Given the description of an element on the screen output the (x, y) to click on. 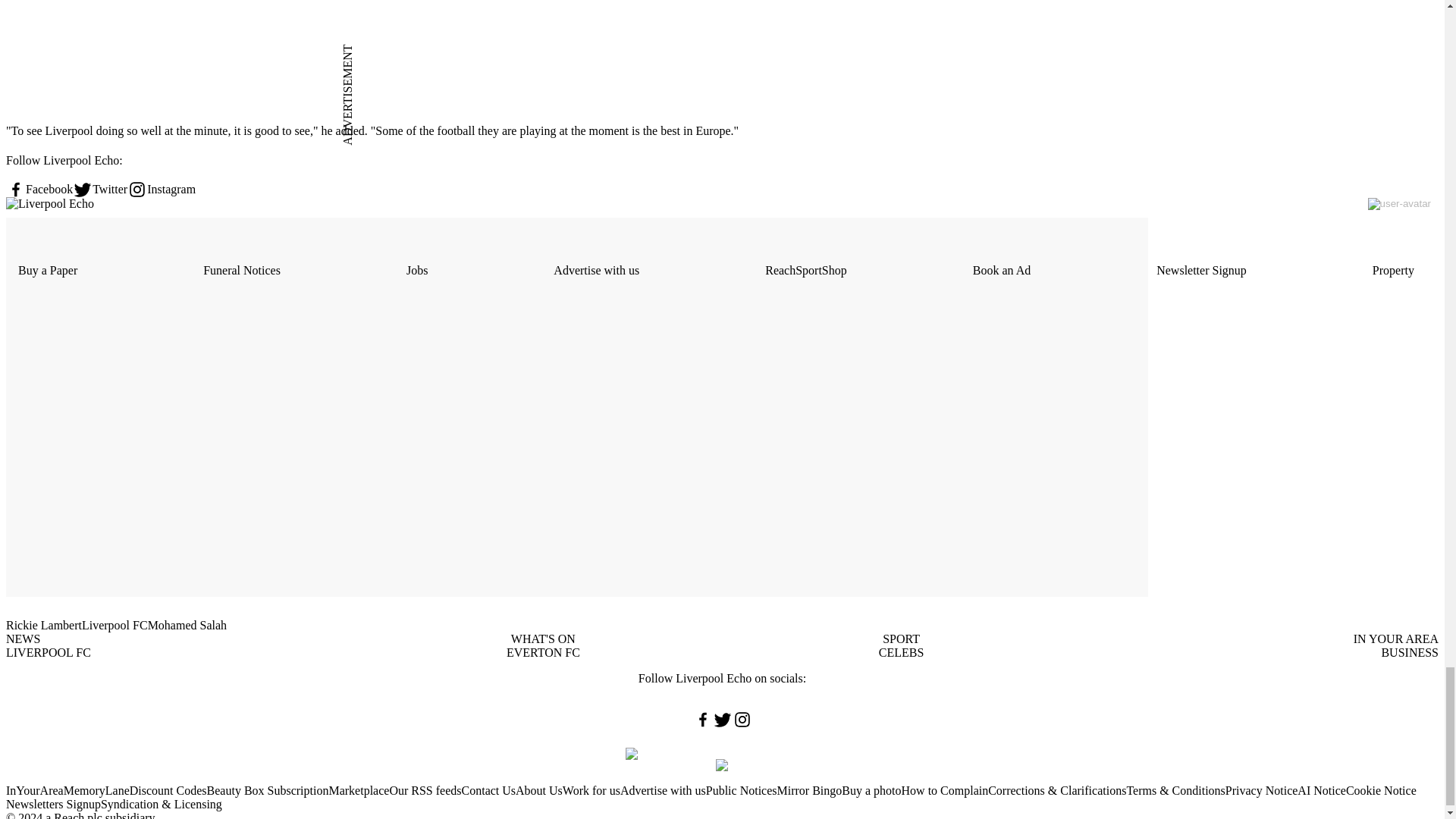
Twitter (100, 189)
Instagram (161, 189)
Facebook (38, 189)
